Given the description of an element on the screen output the (x, y) to click on. 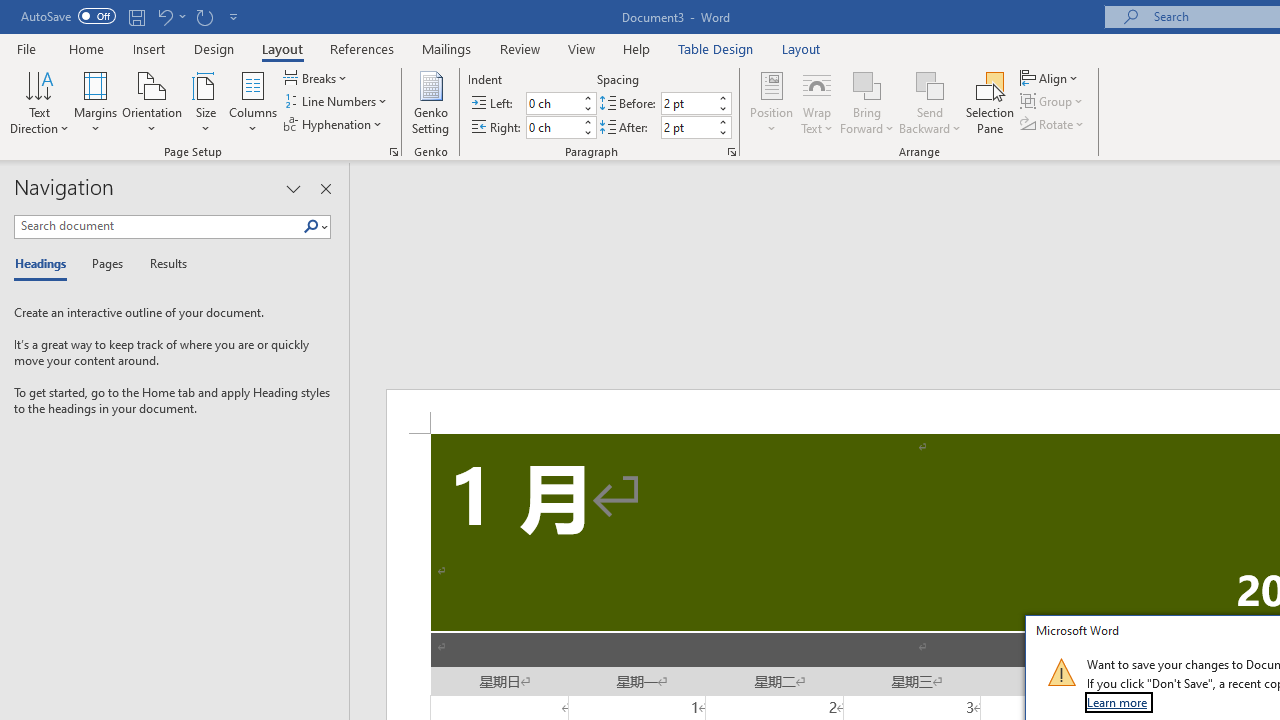
Indent Left (552, 103)
Indent Right (552, 127)
Less (722, 132)
Learn more (1118, 702)
Breaks (317, 78)
Undo Increase Indent (170, 15)
